Given the description of an element on the screen output the (x, y) to click on. 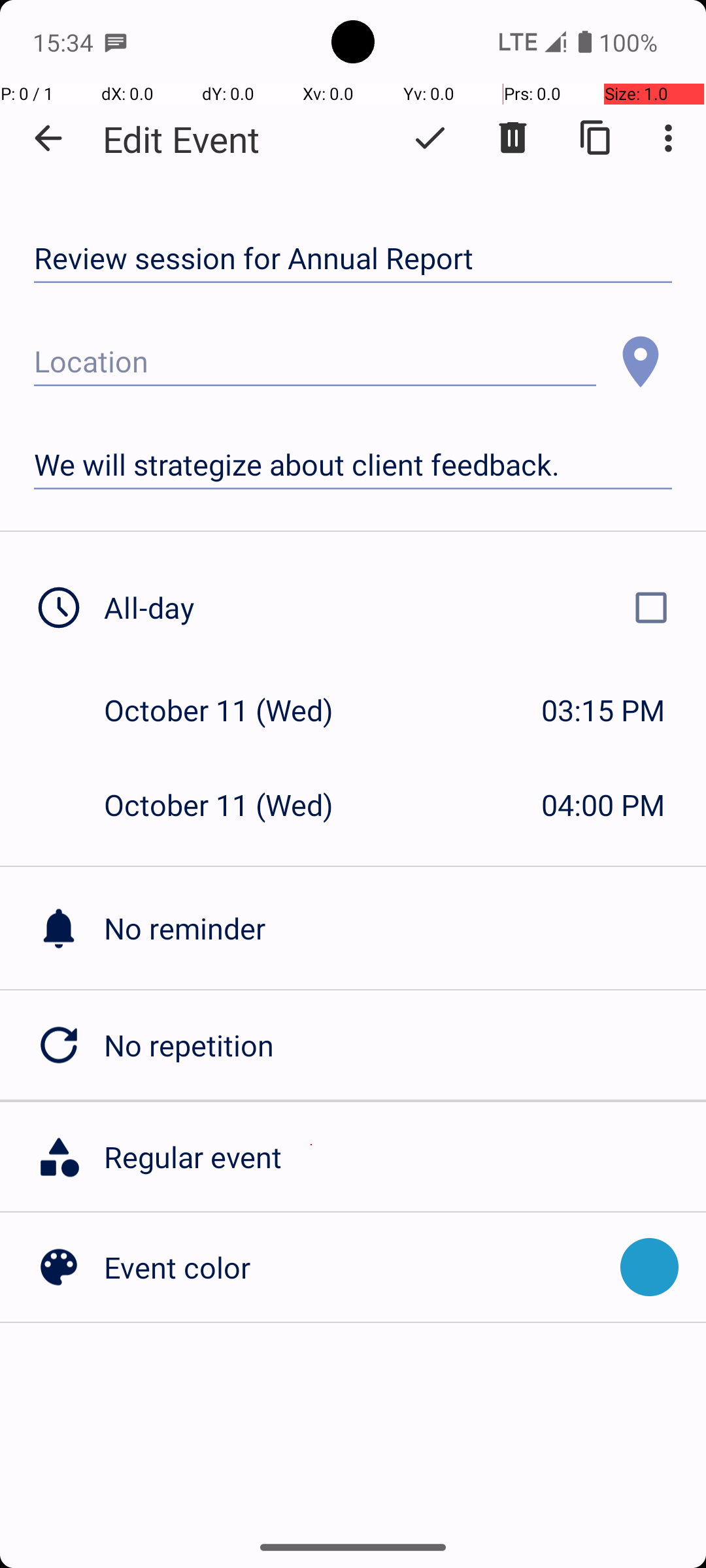
We will strategize about client feedback. Element type: android.widget.EditText (352, 465)
October 11 (Wed) Element type: android.widget.TextView (232, 709)
03:15 PM Element type: android.widget.TextView (602, 709)
04:00 PM Element type: android.widget.TextView (602, 804)
